Given the description of an element on the screen output the (x, y) to click on. 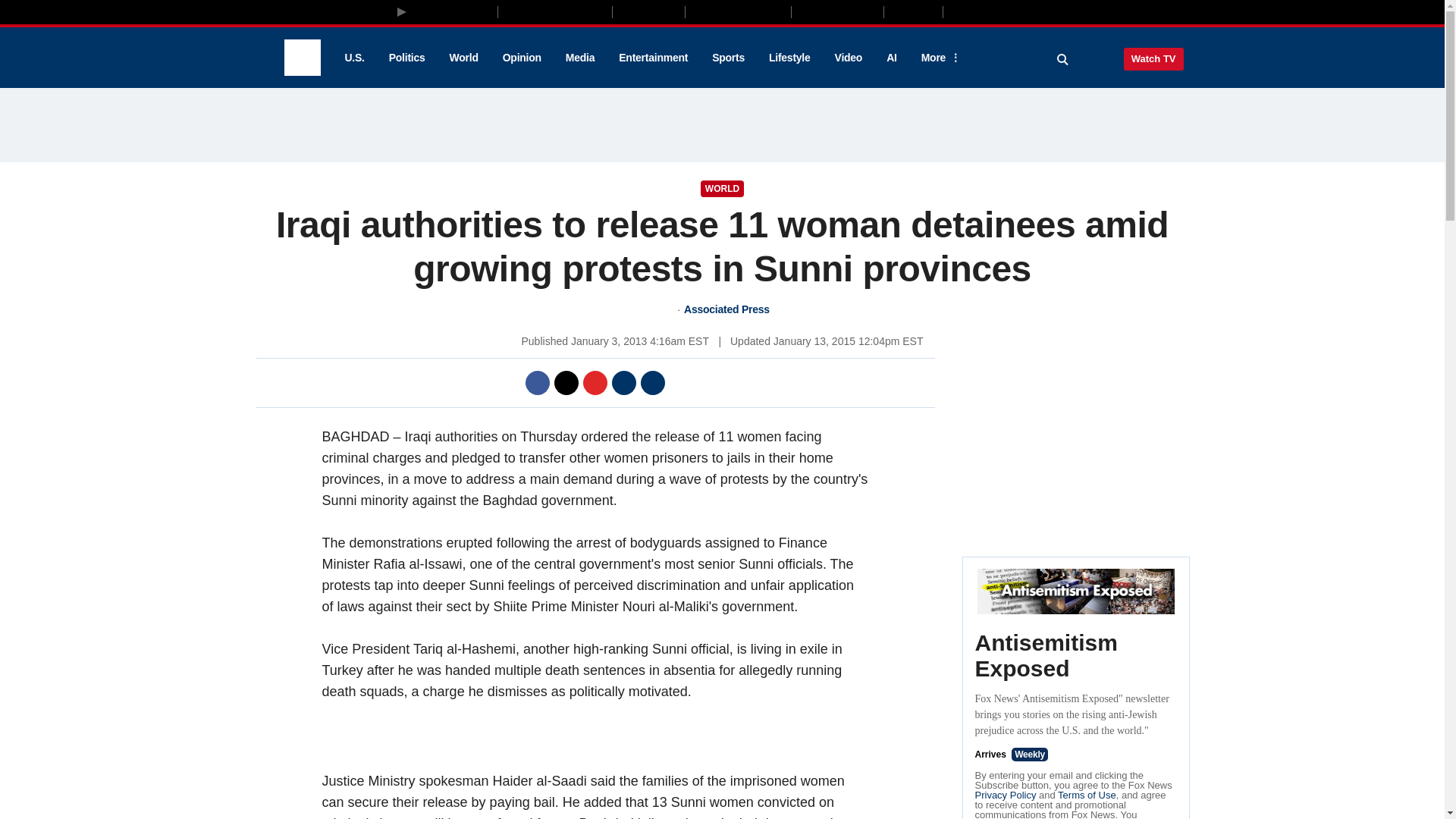
Entertainment (653, 57)
Video (848, 57)
Media (580, 57)
Fox News Audio (737, 11)
Lifestyle (789, 57)
U.S. (353, 57)
Outkick (912, 11)
Fox News Media (453, 11)
Sports (728, 57)
Watch TV (1153, 58)
AI (891, 57)
Politics (407, 57)
Fox Business (554, 11)
World (464, 57)
More (938, 57)
